Given the description of an element on the screen output the (x, y) to click on. 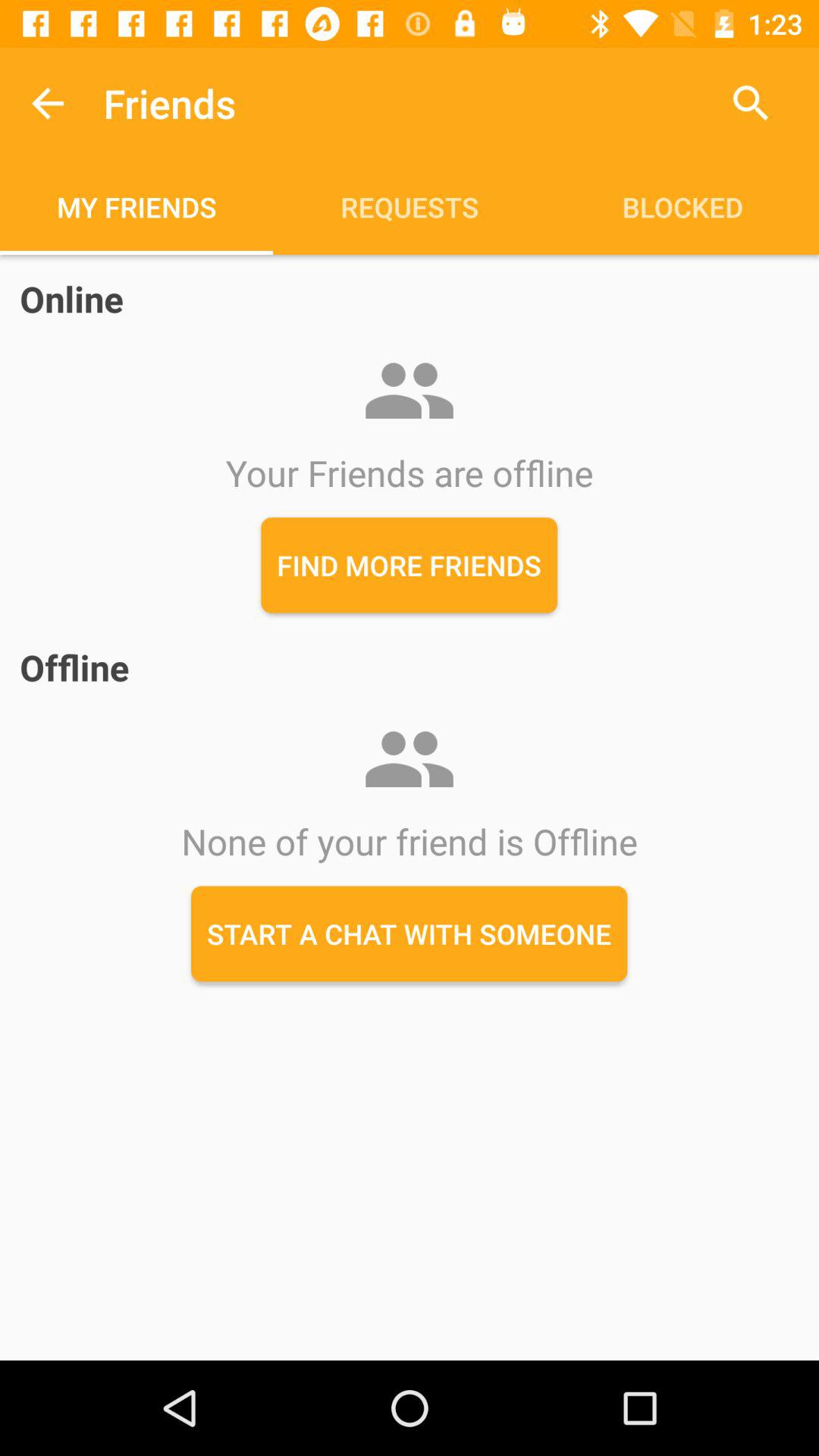
swipe until start a chat (409, 933)
